Given the description of an element on the screen output the (x, y) to click on. 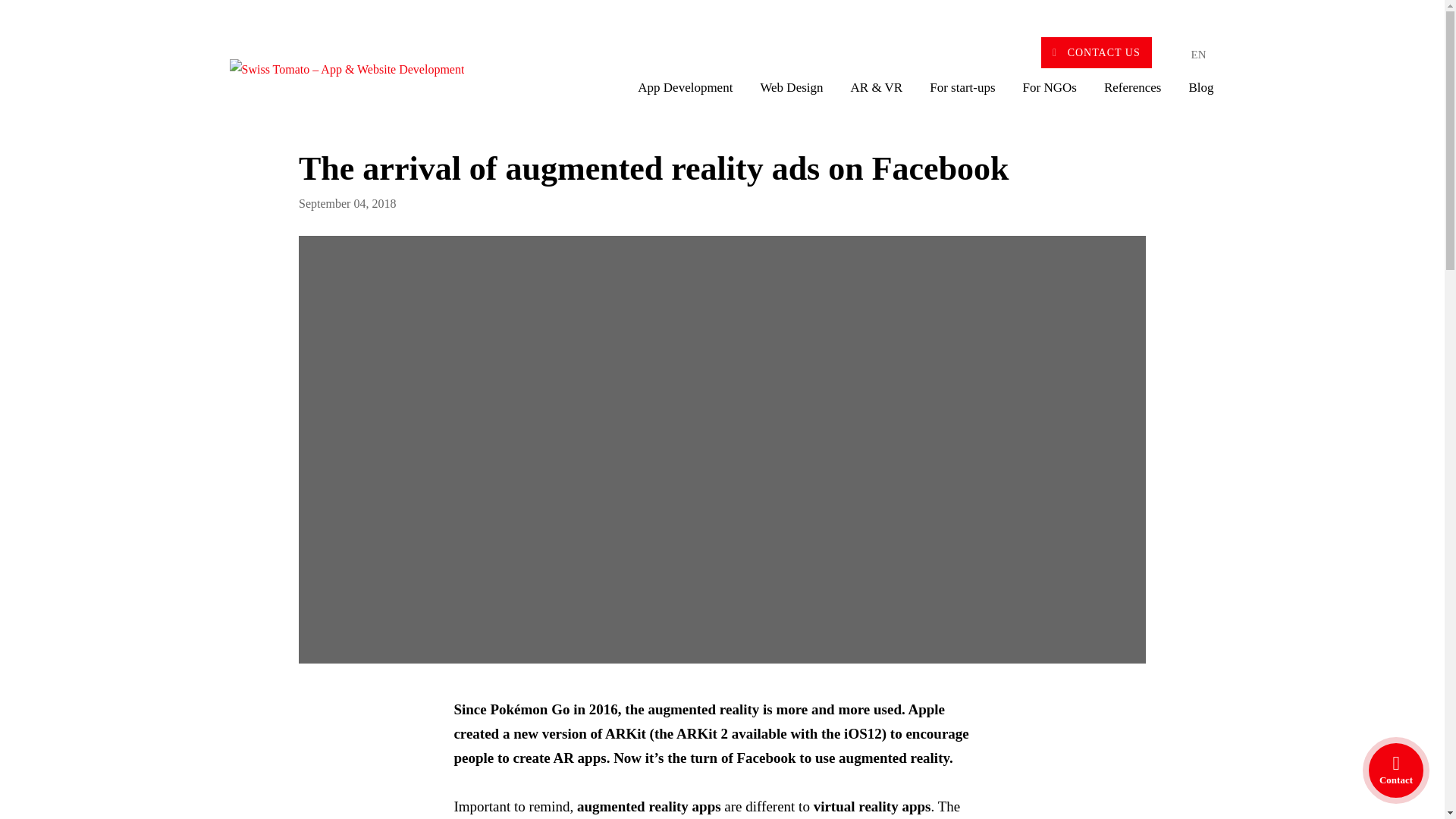
App Development (684, 95)
Contact (1395, 770)
References (1132, 95)
CONTACT US (1096, 51)
Web Design (791, 95)
For start-ups (961, 95)
For NGOs (1050, 95)
